Given the description of an element on the screen output the (x, y) to click on. 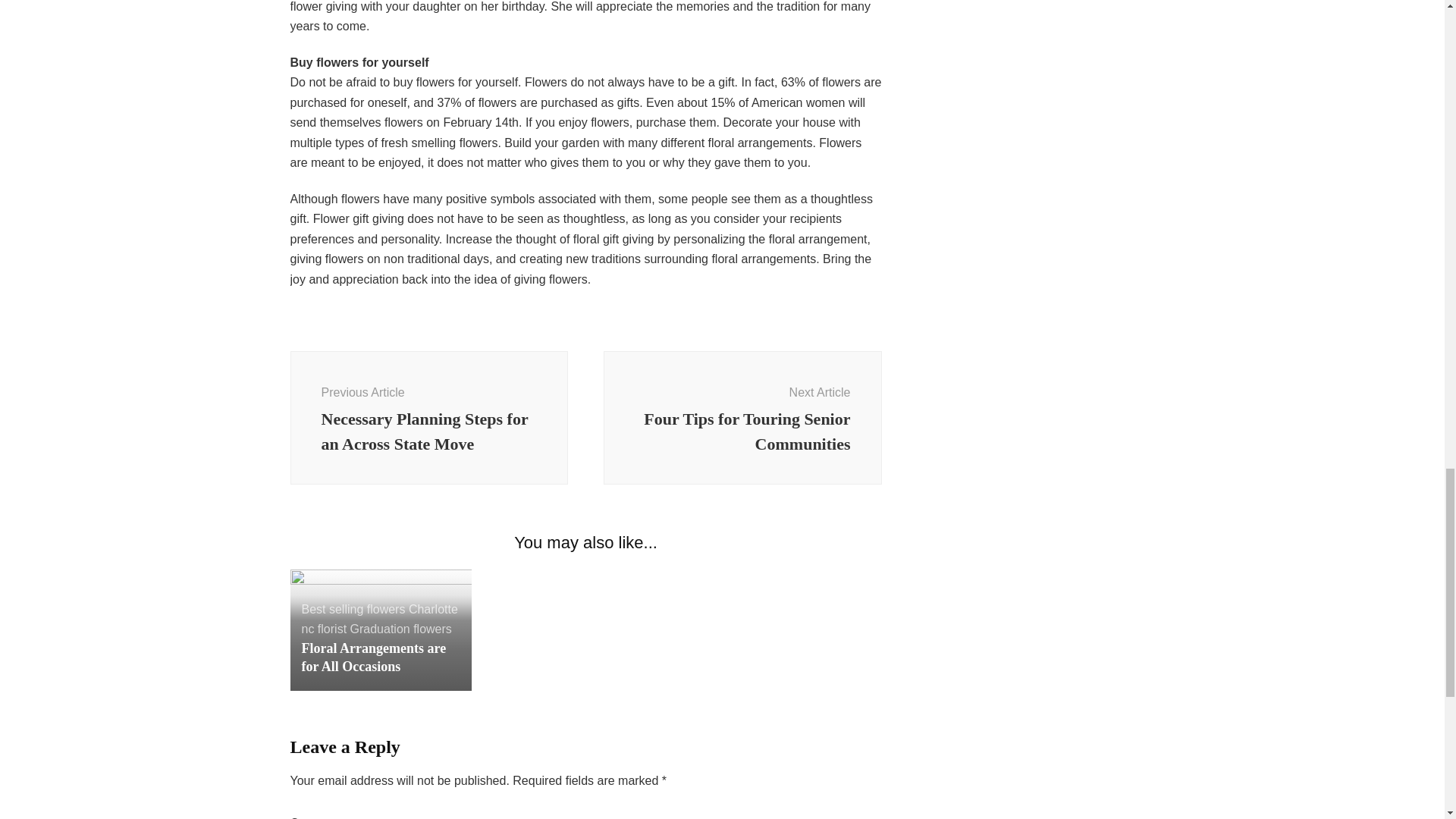
Graduation flowers (400, 628)
Floral Arrangements are for All Occasions (373, 657)
Charlotte nc florist (743, 417)
Best selling flowers (379, 619)
